Given the description of an element on the screen output the (x, y) to click on. 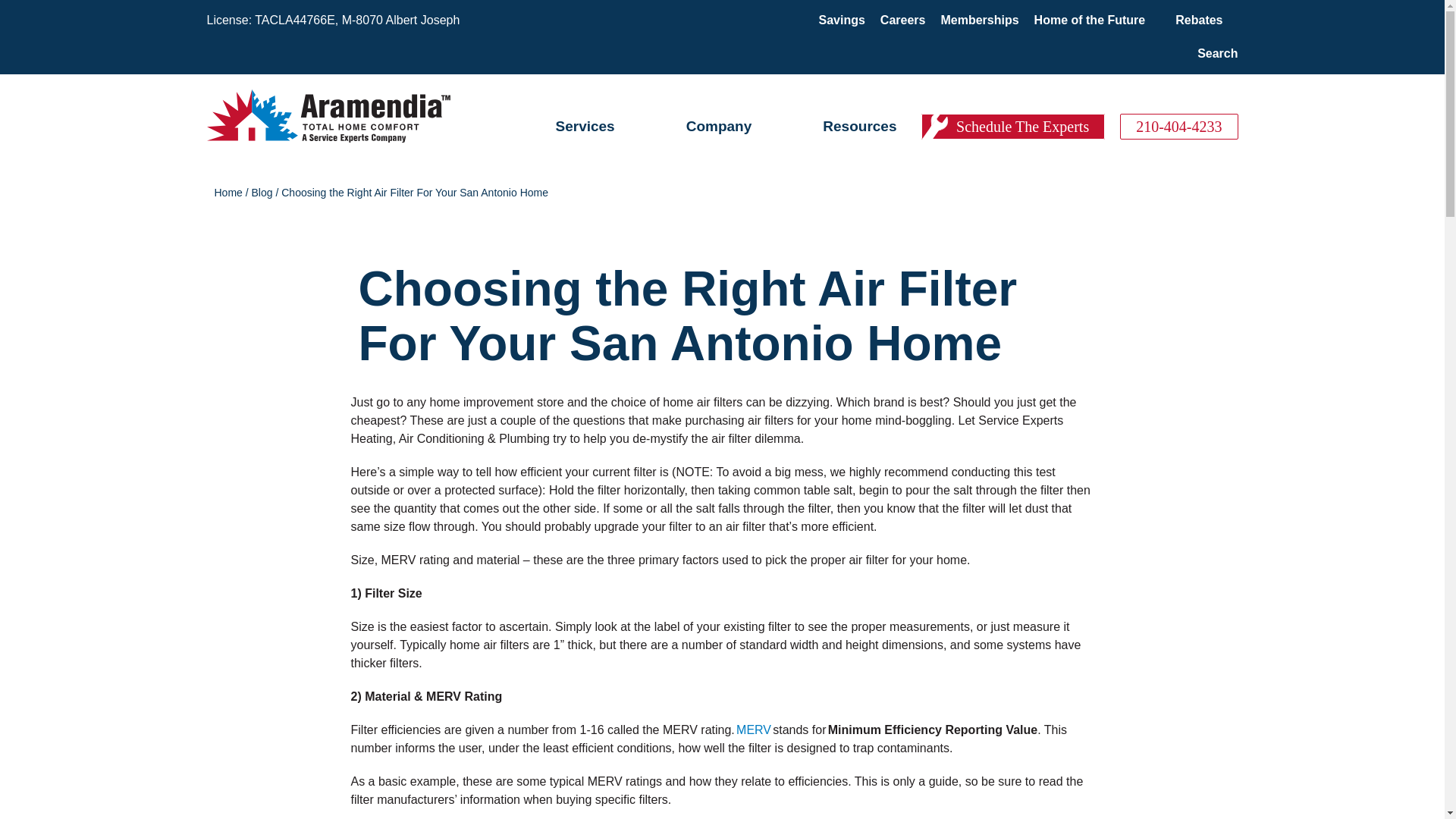
Company (718, 125)
Services (584, 125)
Memberships (978, 19)
Search (1216, 52)
Schedule The Experts (1013, 126)
Savings (841, 19)
210-404-4233 (1178, 126)
Resources (859, 125)
Rebates (1198, 19)
Home of the Future (1089, 19)
